Given the description of an element on the screen output the (x, y) to click on. 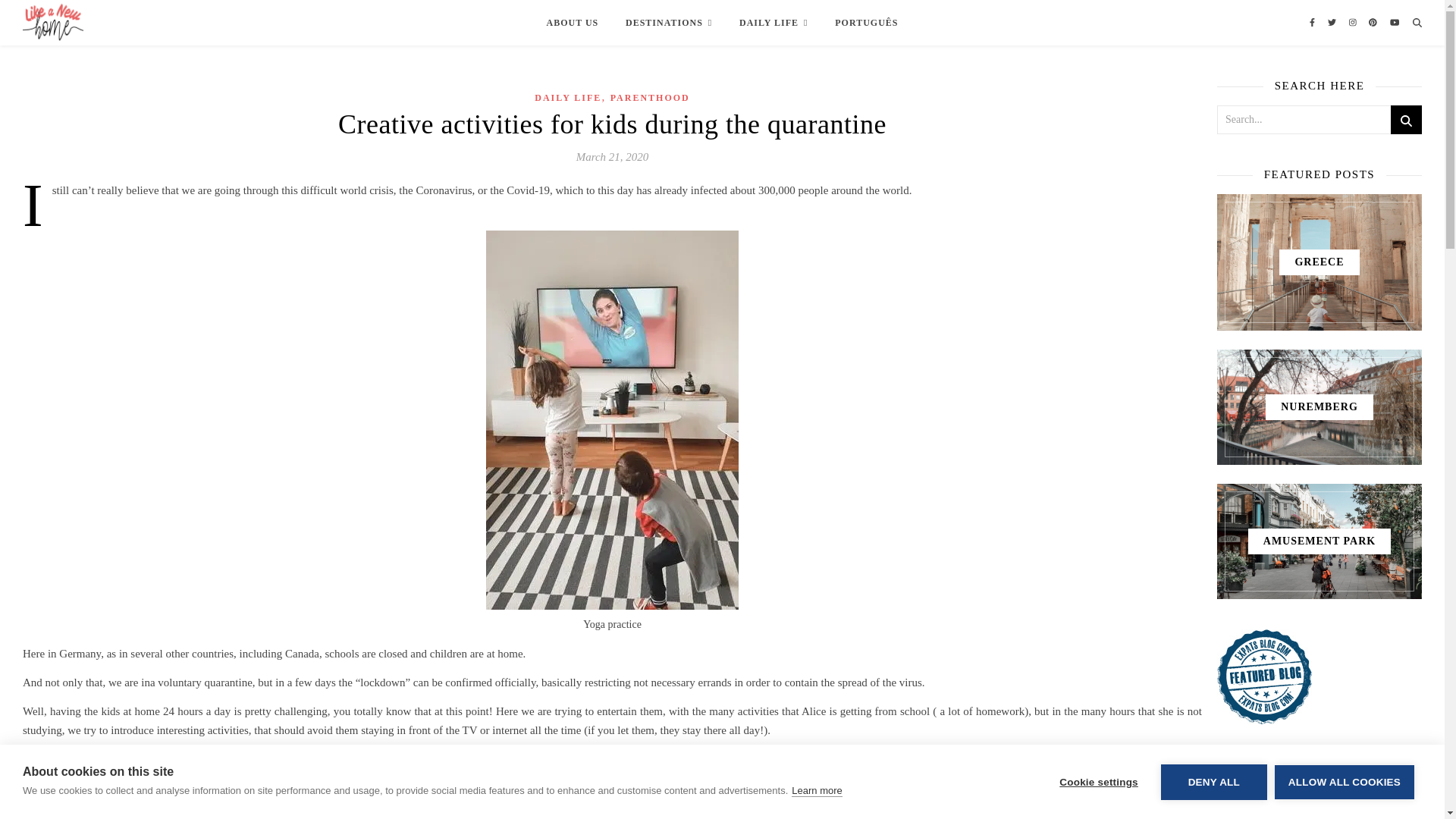
ABOUT US (578, 22)
Like a New Home (52, 26)
ALLOW ALL COOKIES (1344, 807)
EXPAT LIFE (138, 18)
DESTINATIONS (667, 22)
DENY ALL (1213, 811)
ABOUT US (81, 18)
MOVING TO GERMANY (220, 18)
